Given the description of an element on the screen output the (x, y) to click on. 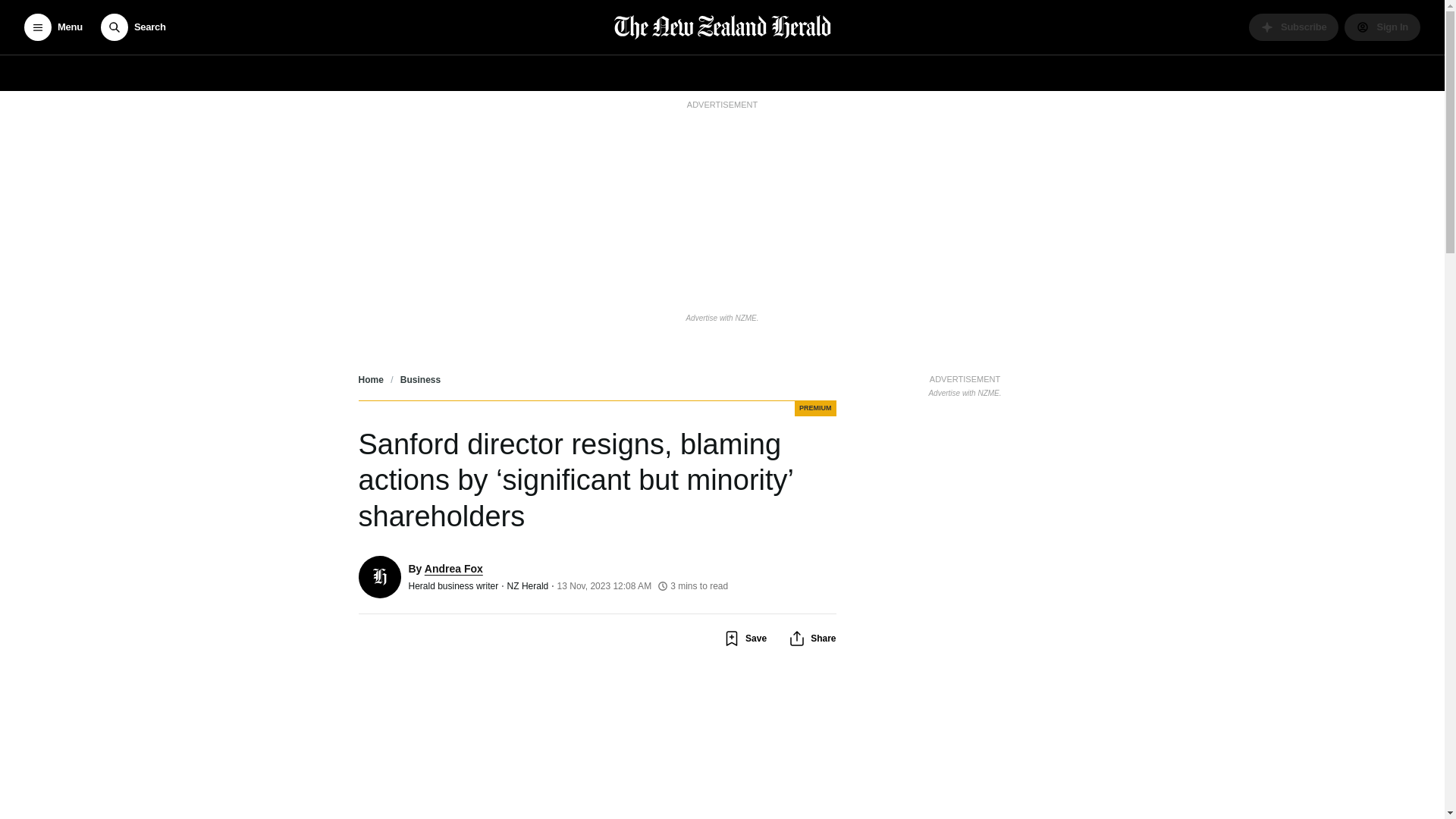
Subscribe (1294, 26)
Manage your account (1382, 26)
Search (132, 26)
Sign In (1382, 26)
Menu (53, 26)
